Given the description of an element on the screen output the (x, y) to click on. 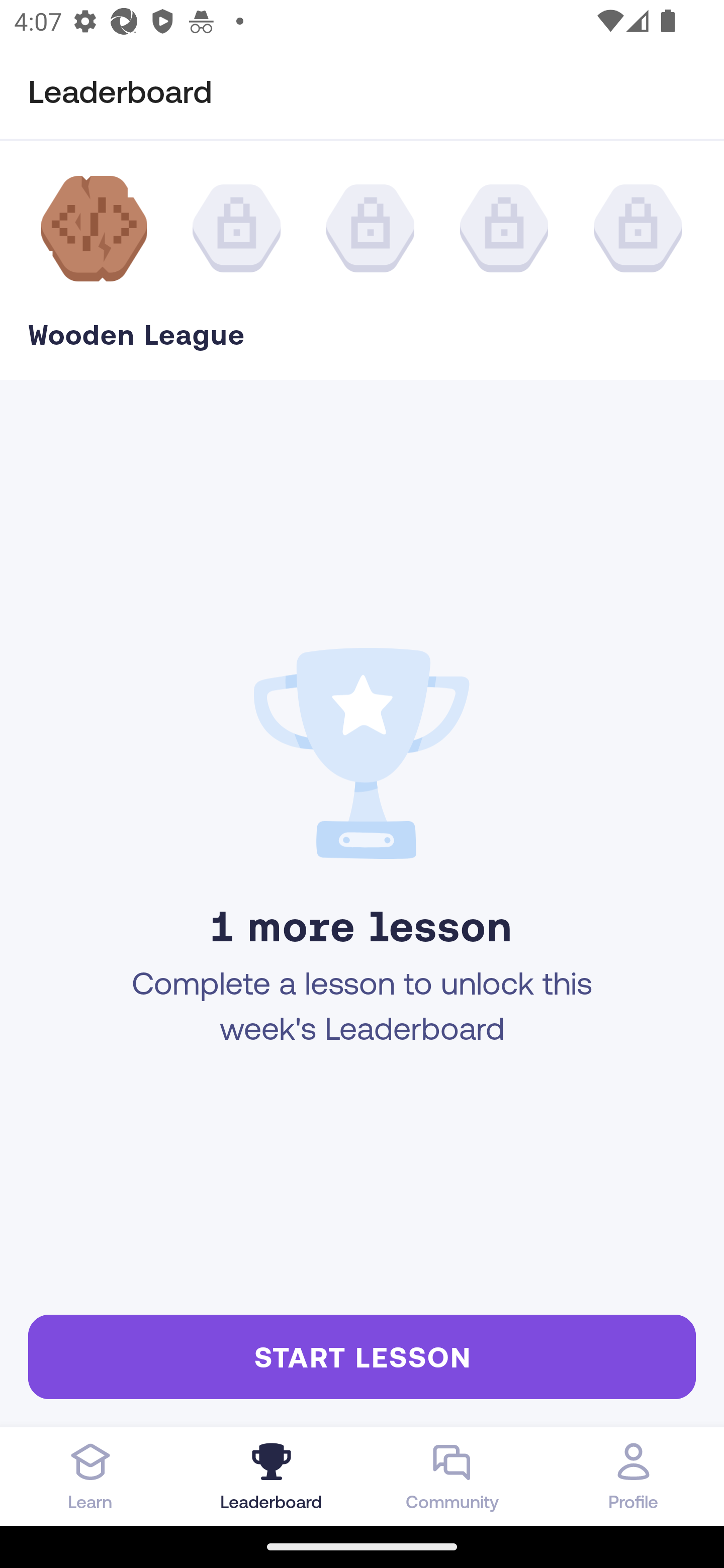
START LESSON (361, 1355)
Learn (90, 1475)
Community (452, 1475)
Profile (633, 1475)
